Given the description of an element on the screen output the (x, y) to click on. 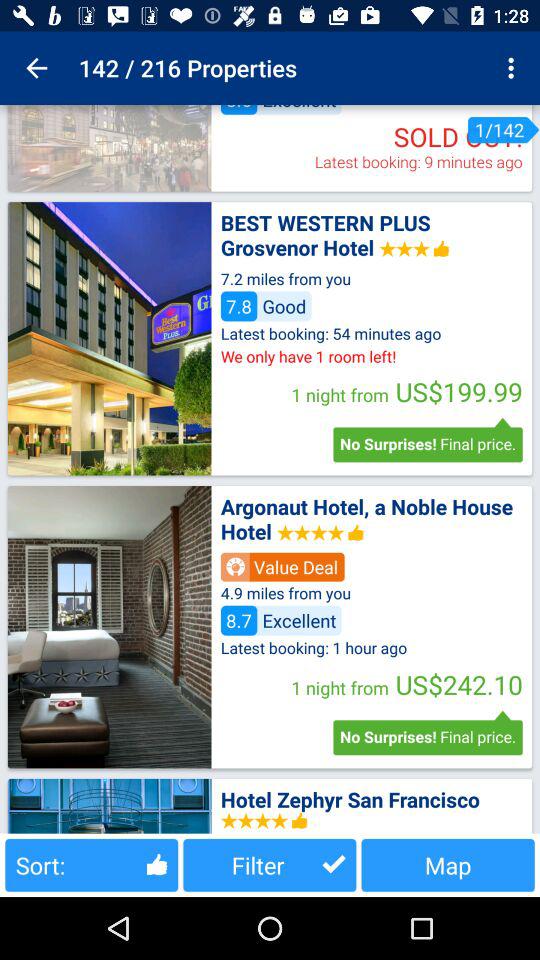
select this hotel (109, 627)
